Given the description of an element on the screen output the (x, y) to click on. 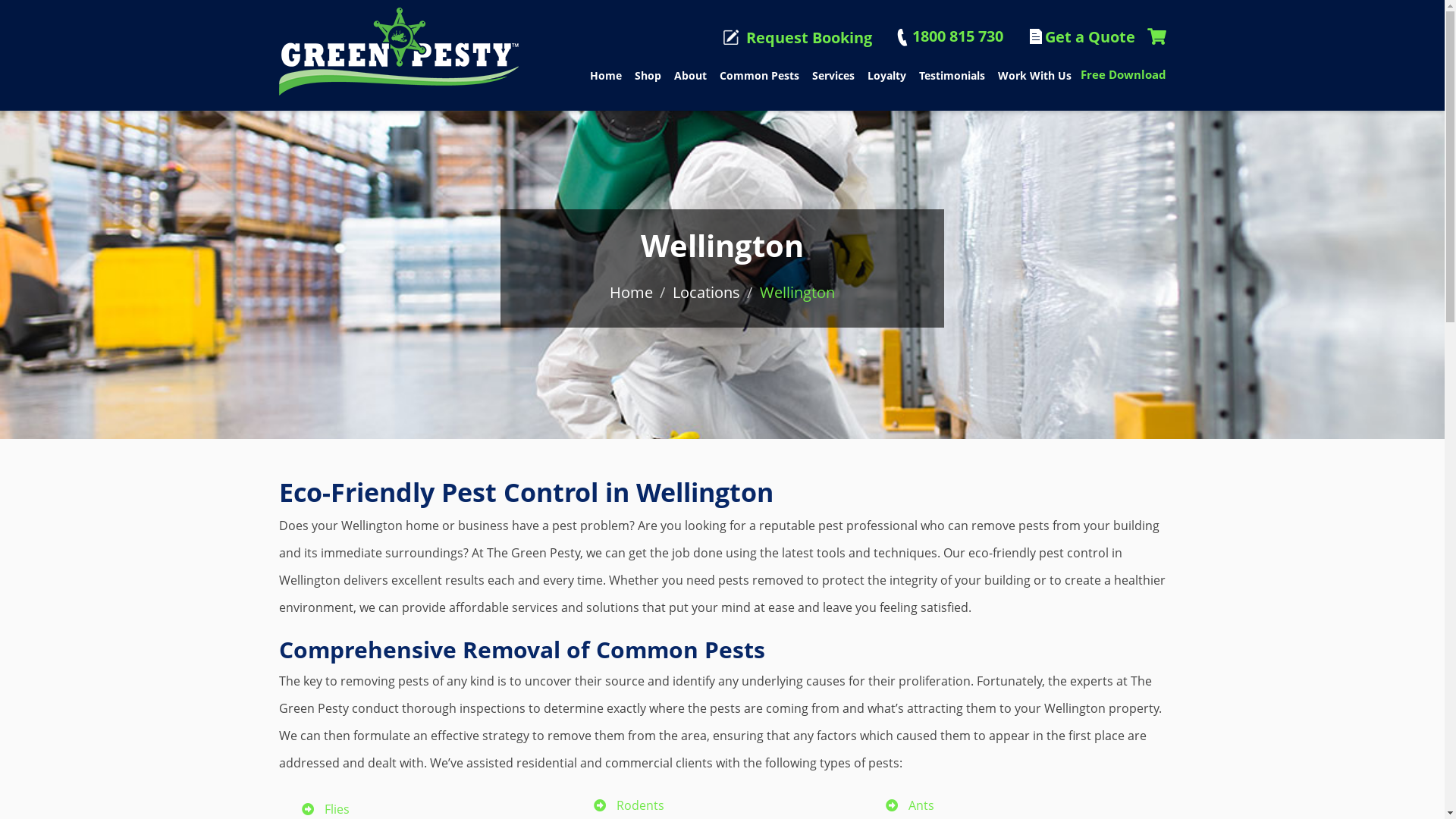
My Basket Element type: hover (1155, 36)
Work With Us Element type: text (1034, 79)
The Green Pesty Element type: hover (398, 51)
Free Download Element type: text (1122, 74)
Shop Element type: text (646, 79)
Services Element type: text (832, 79)
Common Pests Element type: text (758, 79)
Flies Element type: text (336, 808)
Home Element type: text (630, 292)
Request Booking Element type: text (797, 37)
Get a Quote Element type: text (1080, 37)
Rodents Element type: text (640, 805)
About Element type: text (689, 79)
1800 815 730 Element type: text (949, 36)
Home Element type: text (605, 79)
Locations Element type: text (706, 292)
Testimonials Element type: text (952, 79)
Loyalty Element type: text (886, 79)
Ants Element type: text (921, 805)
